Given the description of an element on the screen output the (x, y) to click on. 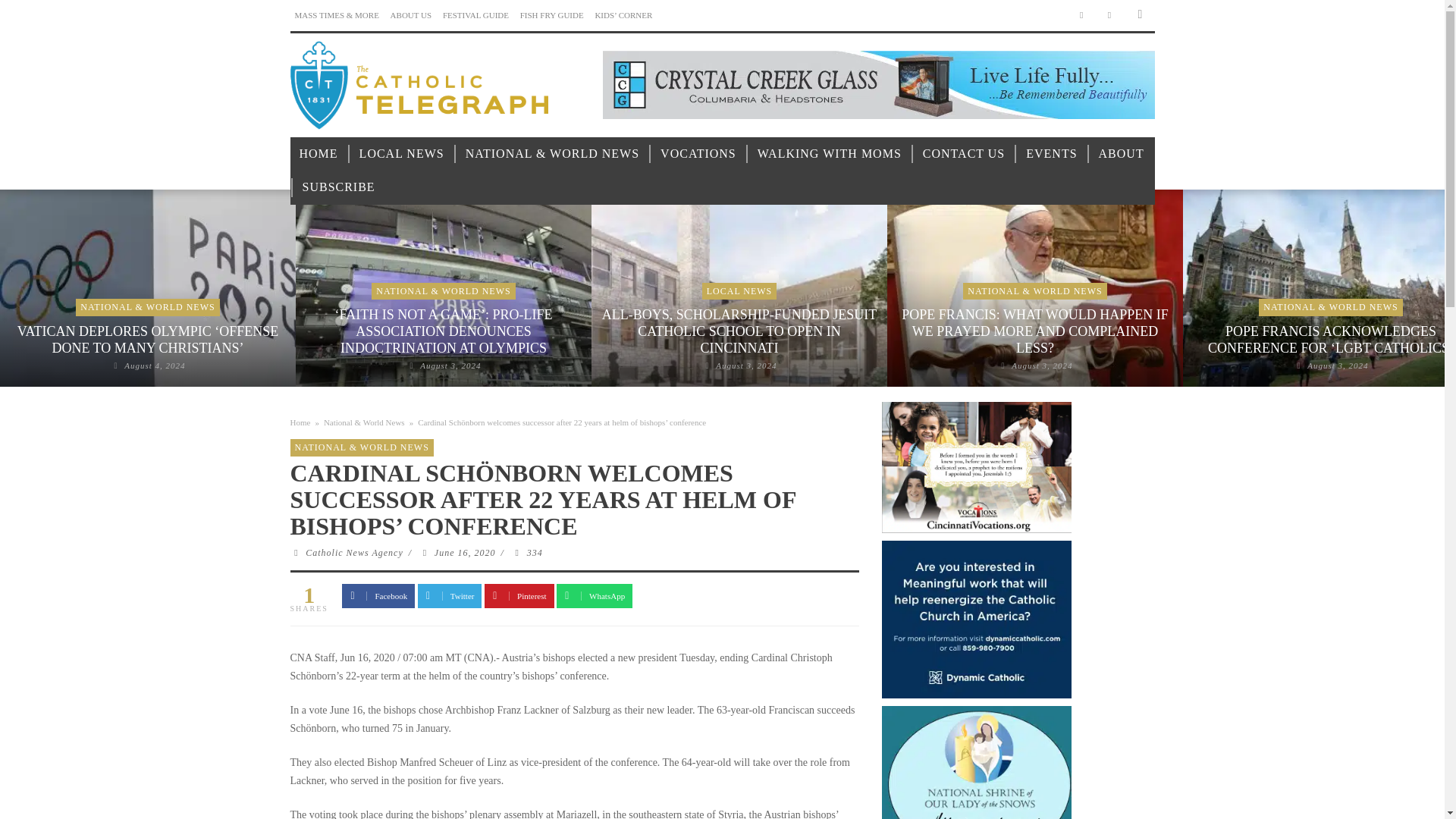
Twitter (1110, 15)
HOME (317, 154)
SUBSCRIBE (338, 187)
Walking with Moms (829, 154)
WALKING WITH MOMS (829, 154)
View all posts in Local News (739, 290)
ABOUT (1121, 154)
Facebook (1081, 15)
ABOUT US (410, 15)
FISH FRY GUIDE (551, 15)
VOCATIONS (697, 154)
FESTIVAL GUIDE (475, 15)
EVENTS (1051, 154)
LOCAL NEWS (401, 154)
